Given the description of an element on the screen output the (x, y) to click on. 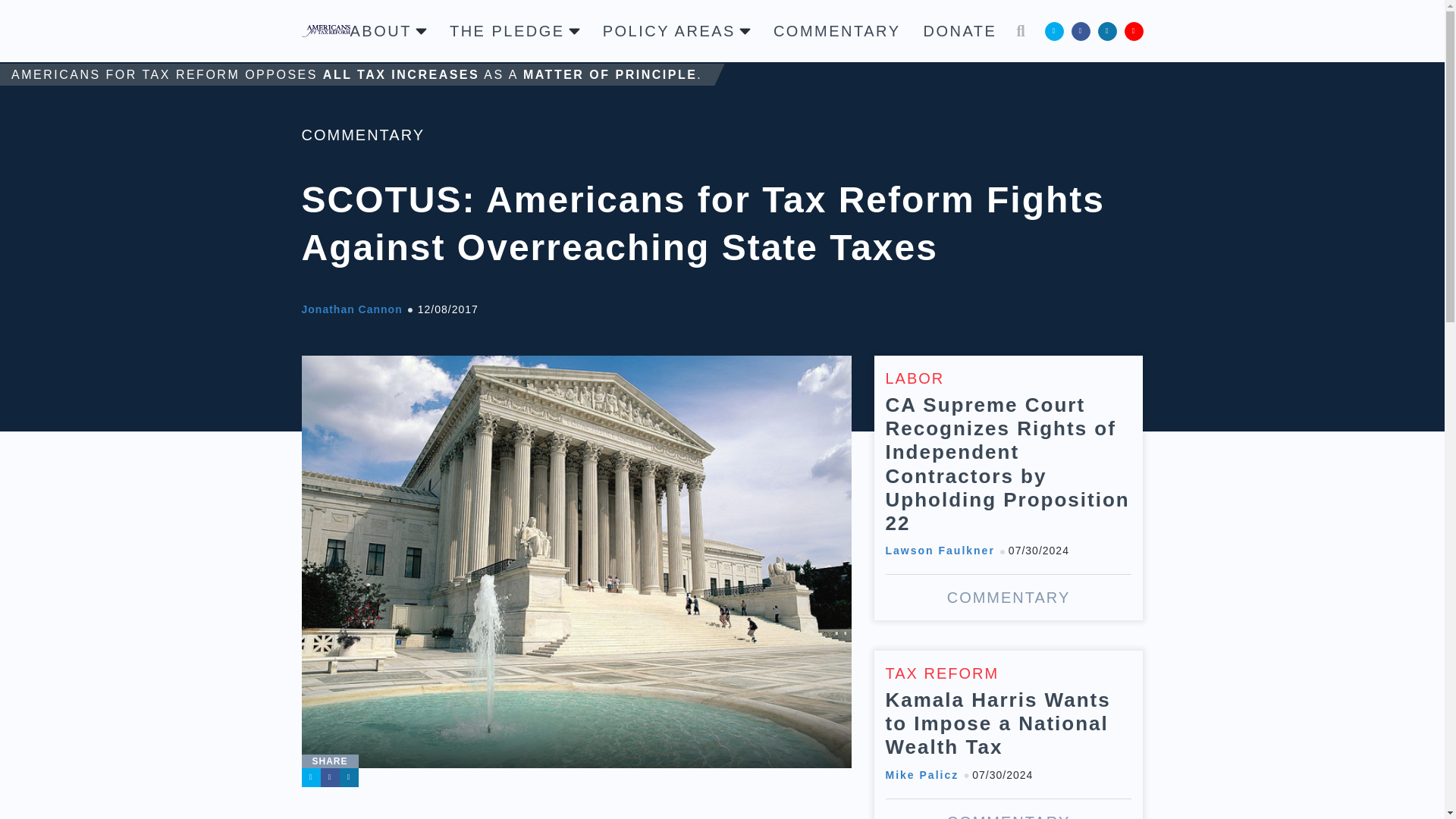
THE PLEDGE (514, 30)
Kamala Harris Wants to Impose a National Wealth Tax (1007, 734)
DONATE (960, 30)
LinkedIn (348, 777)
LinkedIn (1106, 30)
POLICY AREAS (676, 30)
Facebook (1079, 30)
COMMENTARY (363, 134)
ABOUT (388, 30)
Twitter (310, 777)
Facebook (329, 777)
YouTube (1133, 30)
Twitter (1054, 30)
COMMENTARY (837, 30)
